Given the description of an element on the screen output the (x, y) to click on. 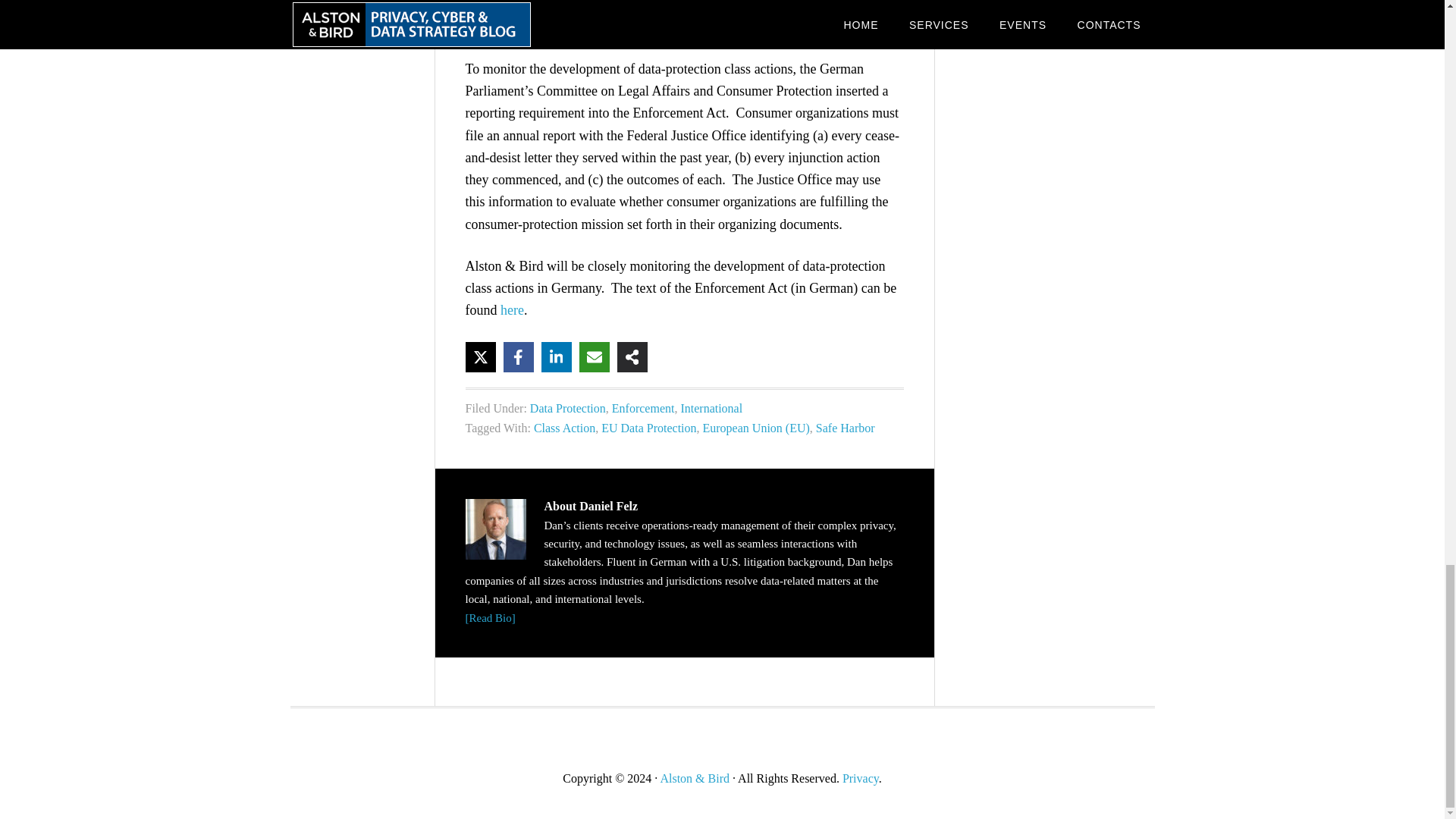
Safe Harbor (845, 427)
Class Action (564, 427)
International (710, 407)
EU Data Protection (648, 427)
here (512, 309)
Enforcement (643, 407)
Data Protection (567, 407)
